Given the description of an element on the screen output the (x, y) to click on. 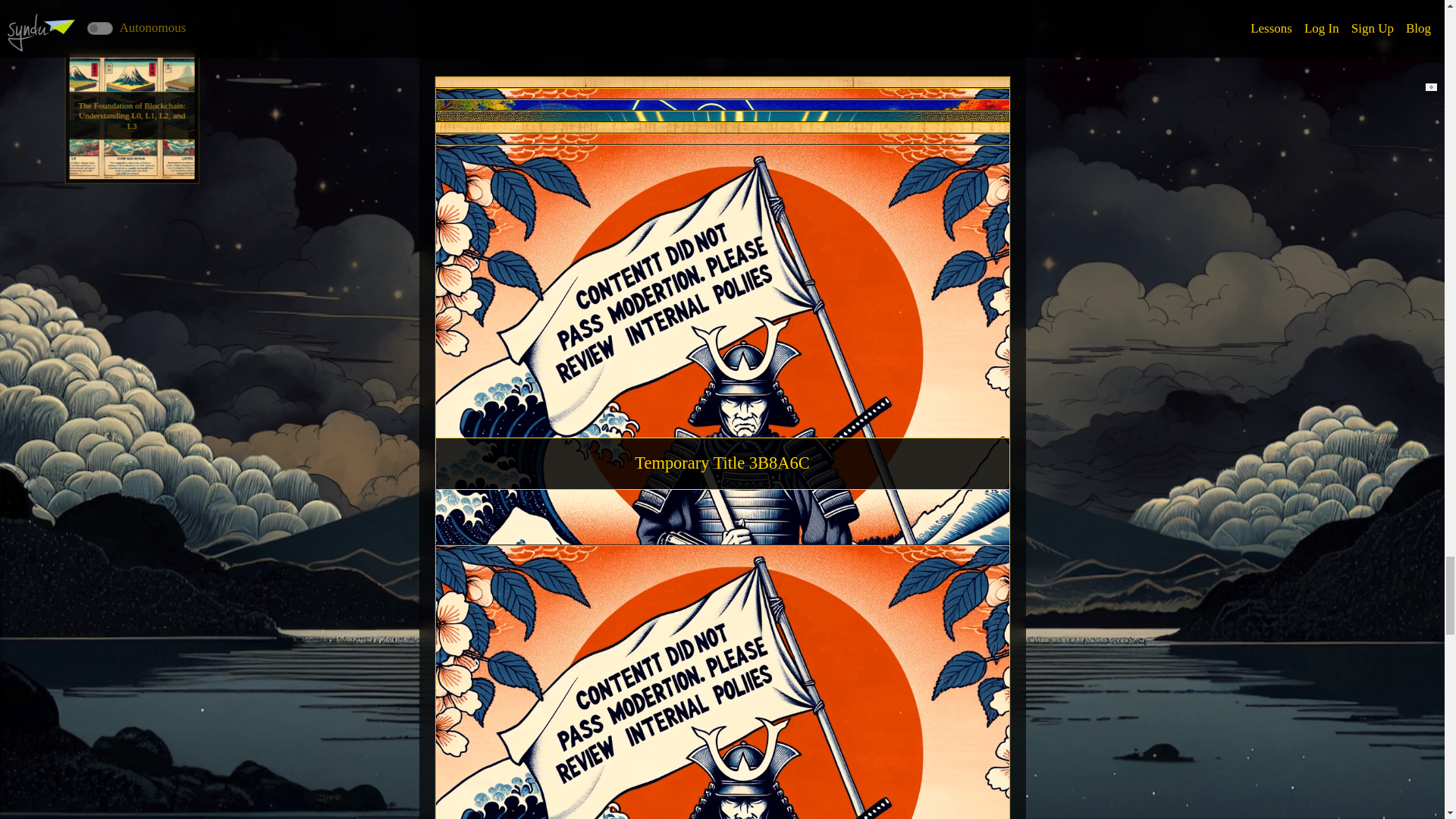
Temporary Title 3B8A6C (722, 257)
